Given the description of an element on the screen output the (x, y) to click on. 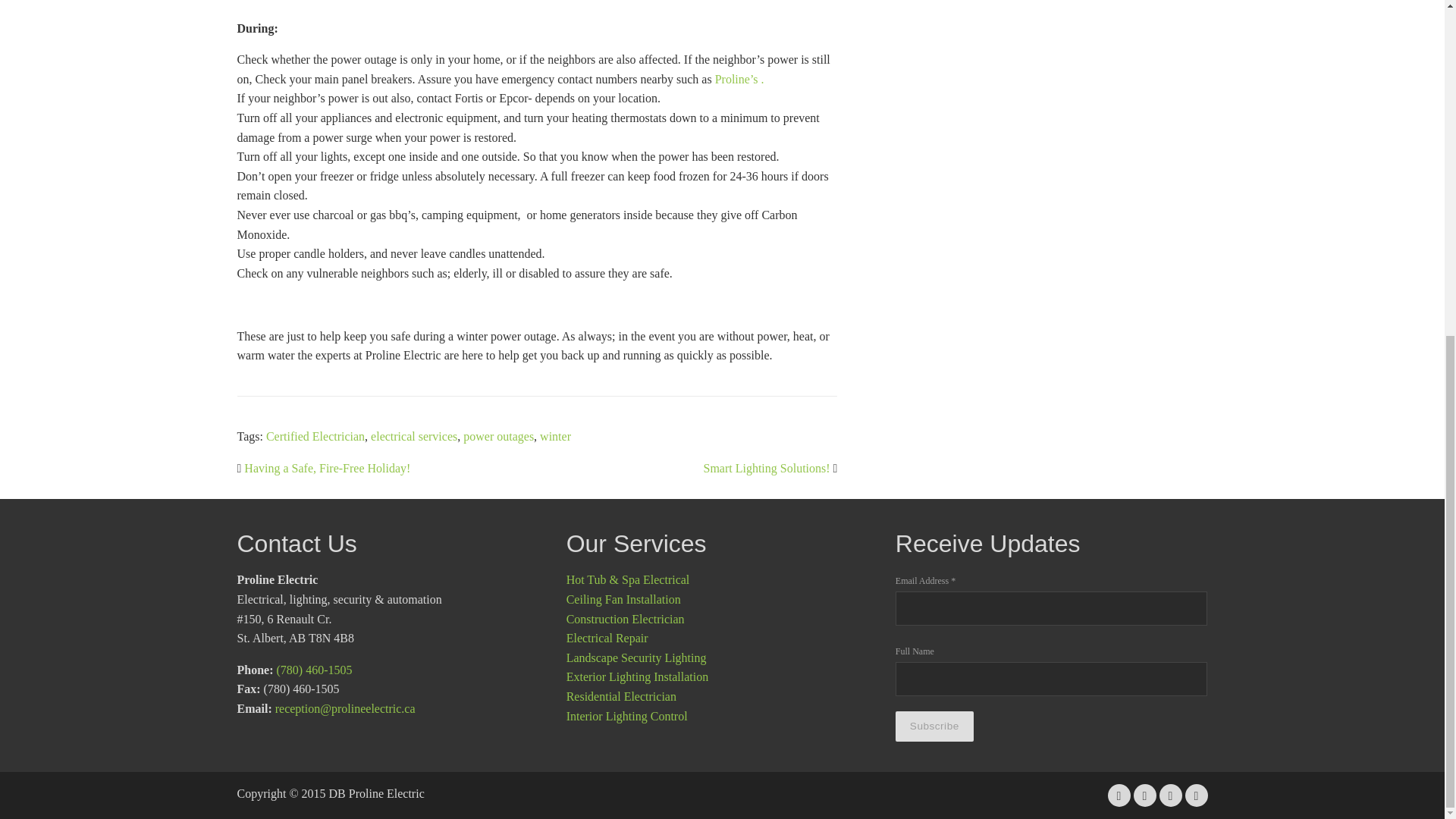
Landscape Security Lighting (636, 657)
Ceiling Fan Installation (623, 599)
winter (555, 436)
Subscribe (934, 726)
Commercial Electrician (625, 618)
Residential Electrician (621, 696)
Smart Lighting Solutions! (766, 468)
electrical services (414, 436)
Having a Safe, Fire-Free Holiday! (327, 468)
Certified Electrician (315, 436)
